Given the description of an element on the screen output the (x, y) to click on. 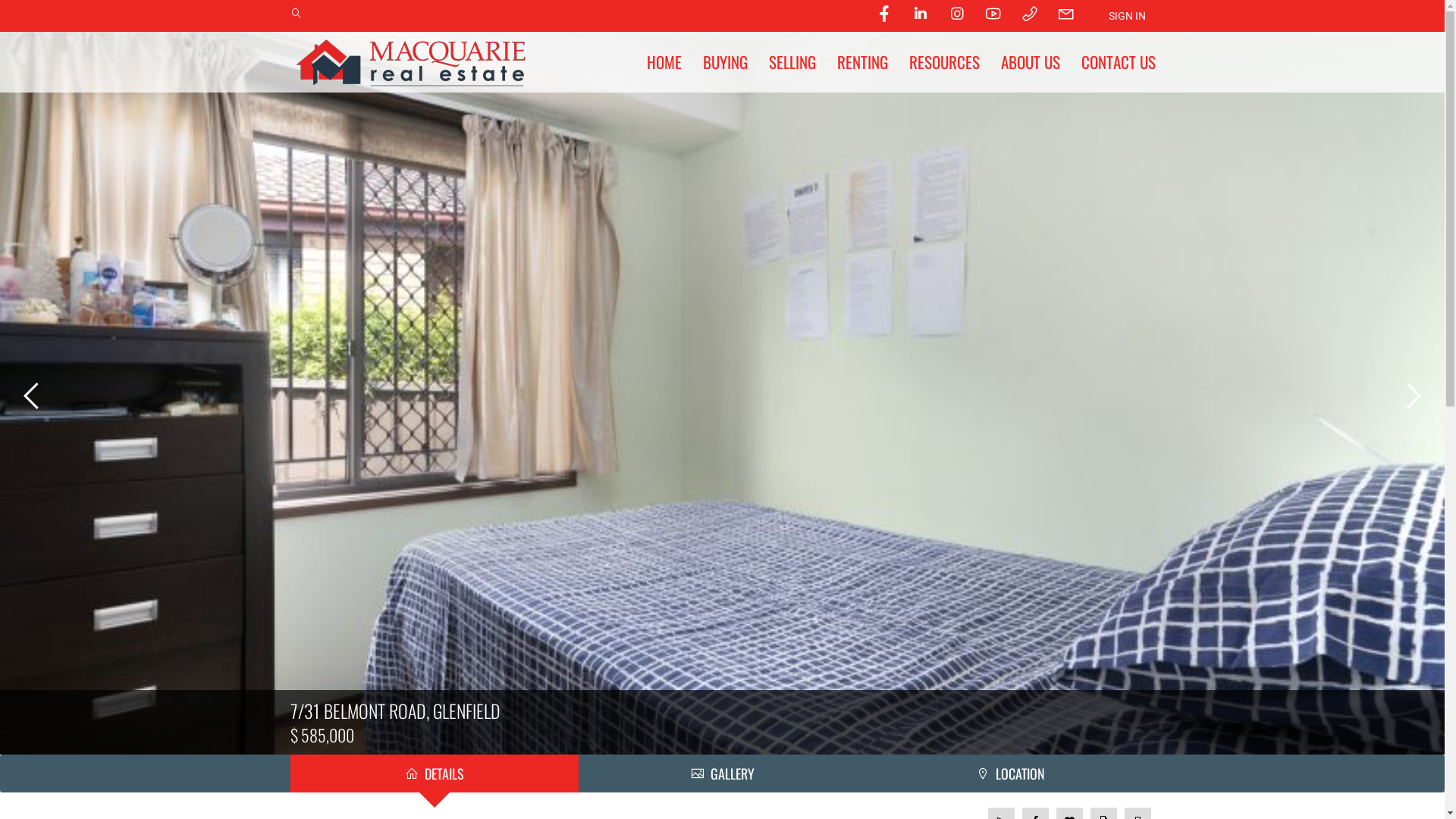
GALLERY Element type: text (721, 773)
HOME Element type: text (663, 61)
DETAILS Element type: text (433, 773)
BUYING Element type: text (724, 61)
RENTING Element type: text (862, 61)
ABOUT US Element type: text (1030, 61)
SELLING Element type: text (792, 61)
LOCATION Element type: text (1010, 773)
RESOURCES Element type: text (943, 61)
CONTACT US Element type: text (1118, 61)
SIGN IN Element type: text (1126, 15)
